Given the description of an element on the screen output the (x, y) to click on. 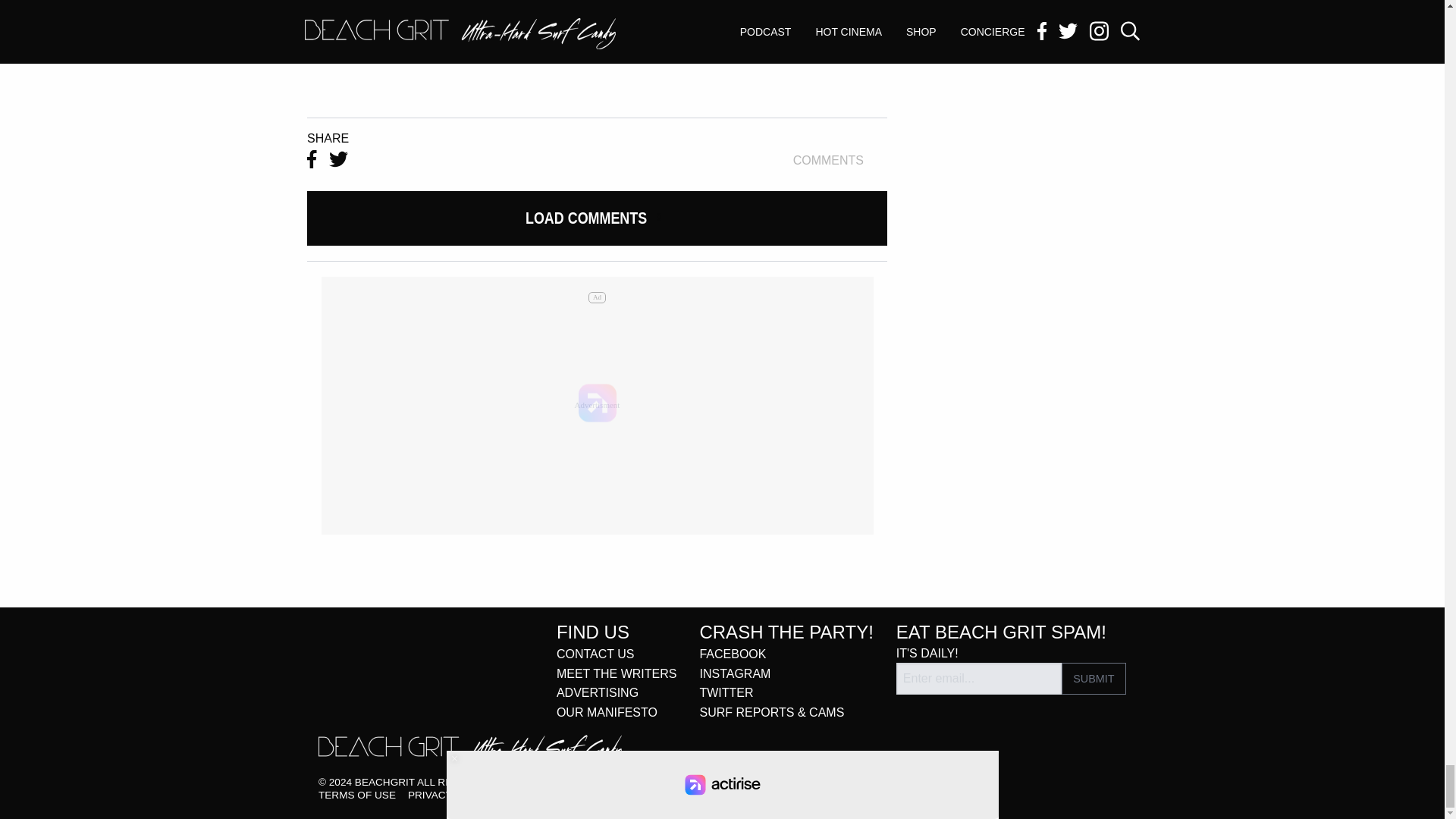
Submit (1093, 678)
